Given the description of an element on the screen output the (x, y) to click on. 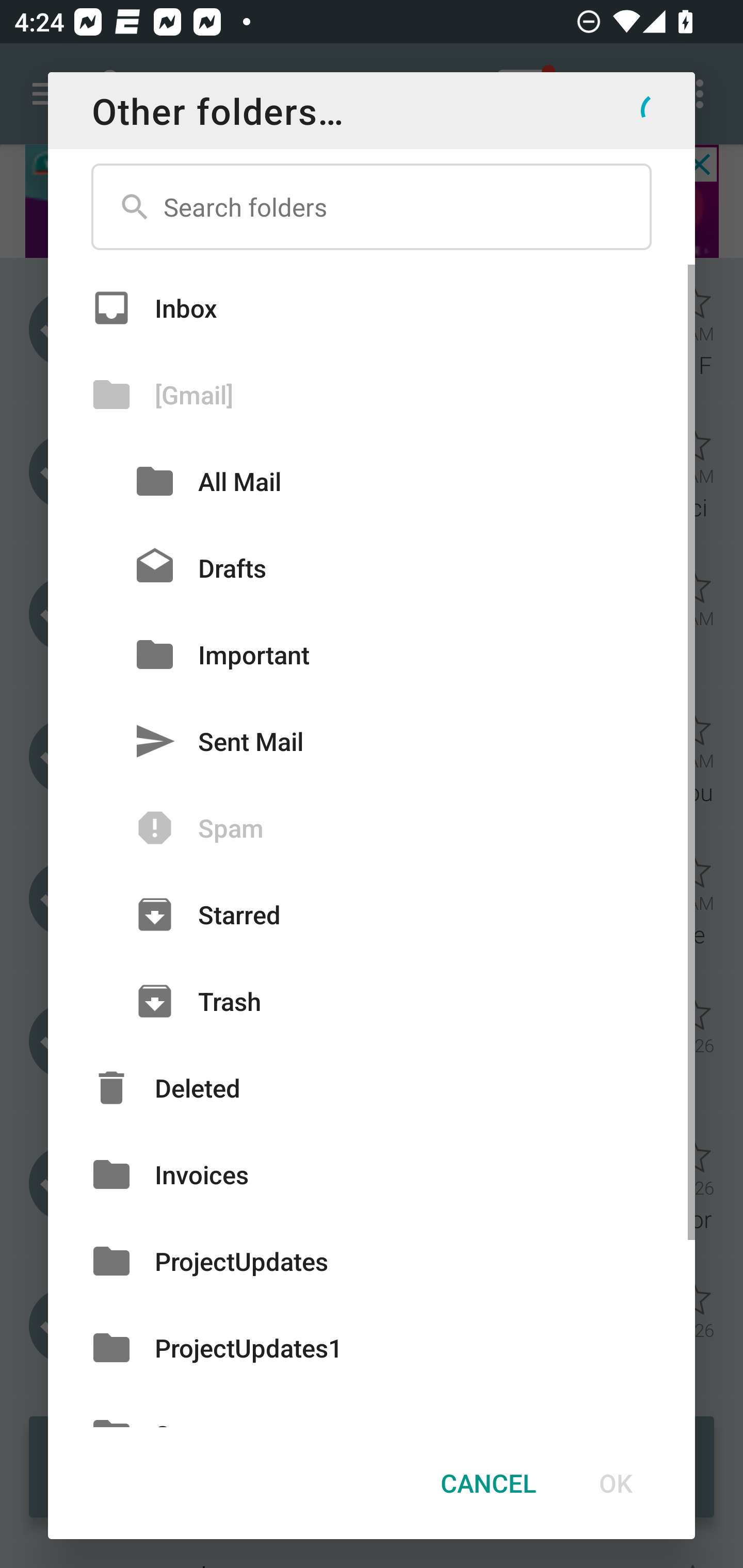
Inbox (371, 307)
All Mail (371, 481)
Drafts (371, 568)
Important (371, 654)
Sent Mail (371, 740)
Starred (371, 914)
Trash (371, 1001)
Deleted (371, 1087)
Invoices (371, 1174)
ProjectUpdates (371, 1261)
ProjectUpdates1 (371, 1347)
CANCEL (488, 1482)
OK (615, 1482)
